Given the description of an element on the screen output the (x, y) to click on. 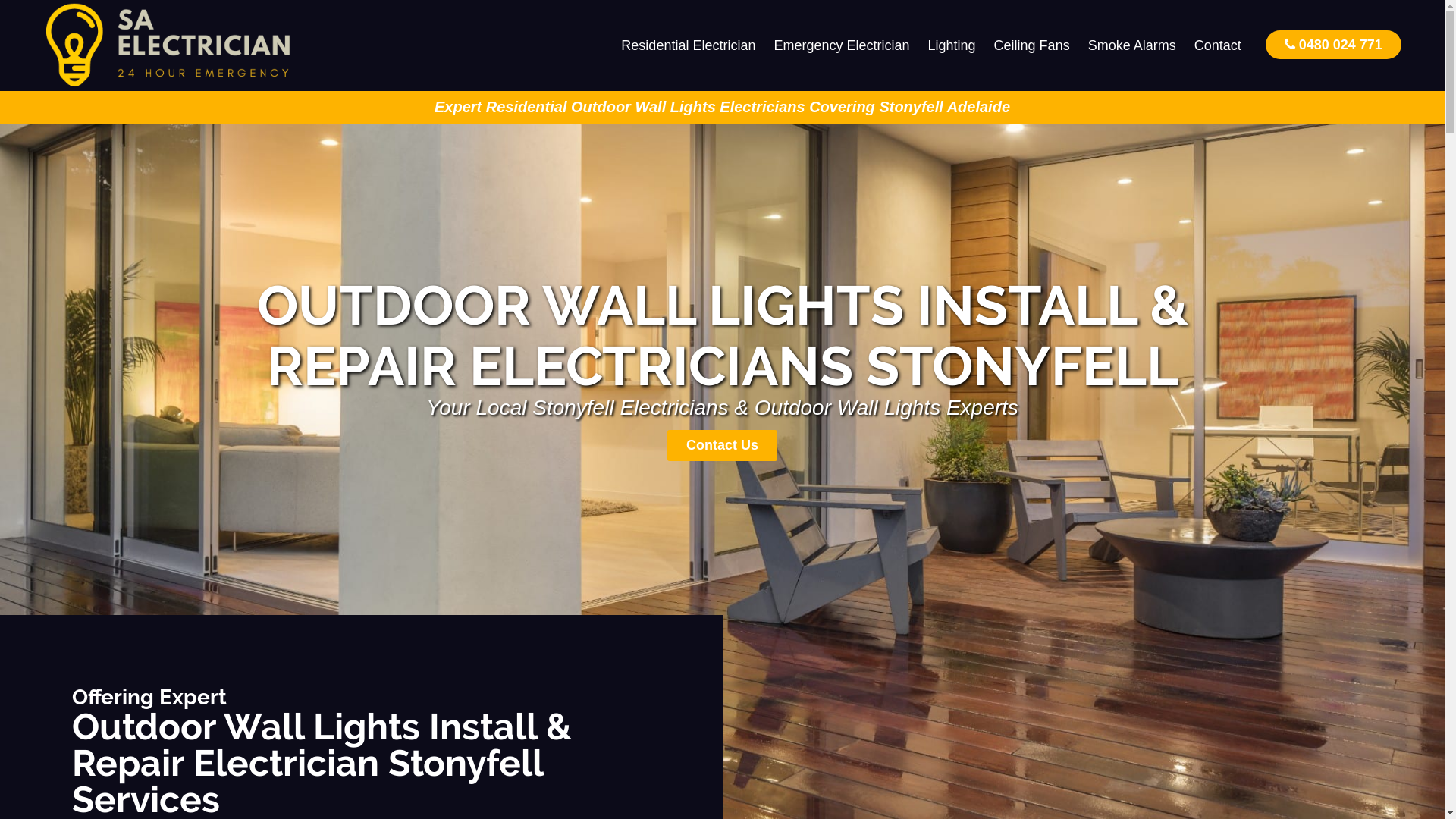
Smoke Alarms Element type: text (1132, 45)
0480 024 771 Element type: text (1333, 44)
Contact Element type: text (1217, 45)
Lighting Element type: text (952, 45)
Emergency Electrician Element type: text (841, 45)
Residential Electrician Element type: text (687, 45)
Ceiling Fans Element type: text (1032, 45)
Contact Us Element type: text (722, 445)
